Given the description of an element on the screen output the (x, y) to click on. 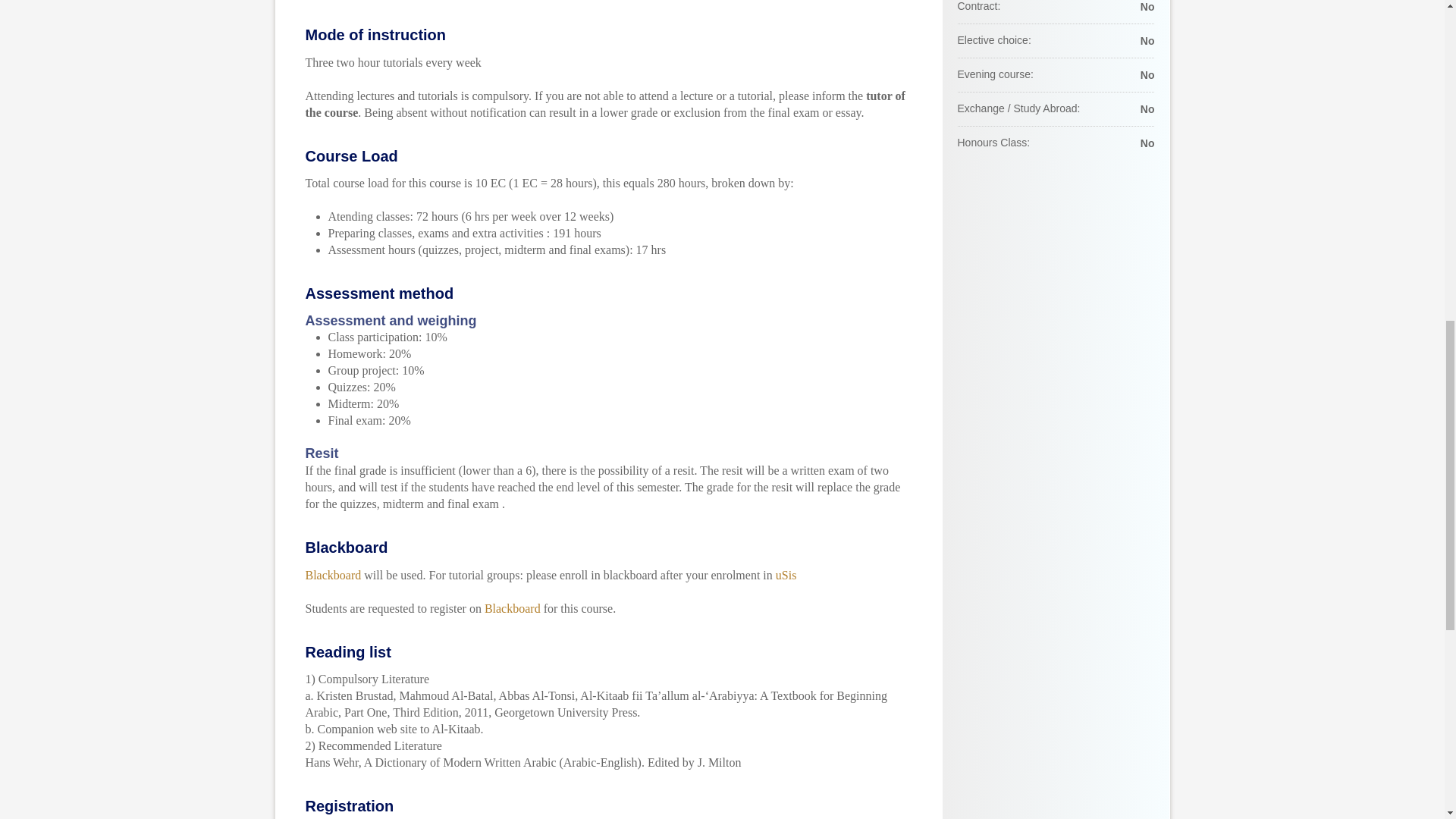
Blackboard (512, 608)
Blackboard (332, 574)
uSis (786, 574)
